Given the description of an element on the screen output the (x, y) to click on. 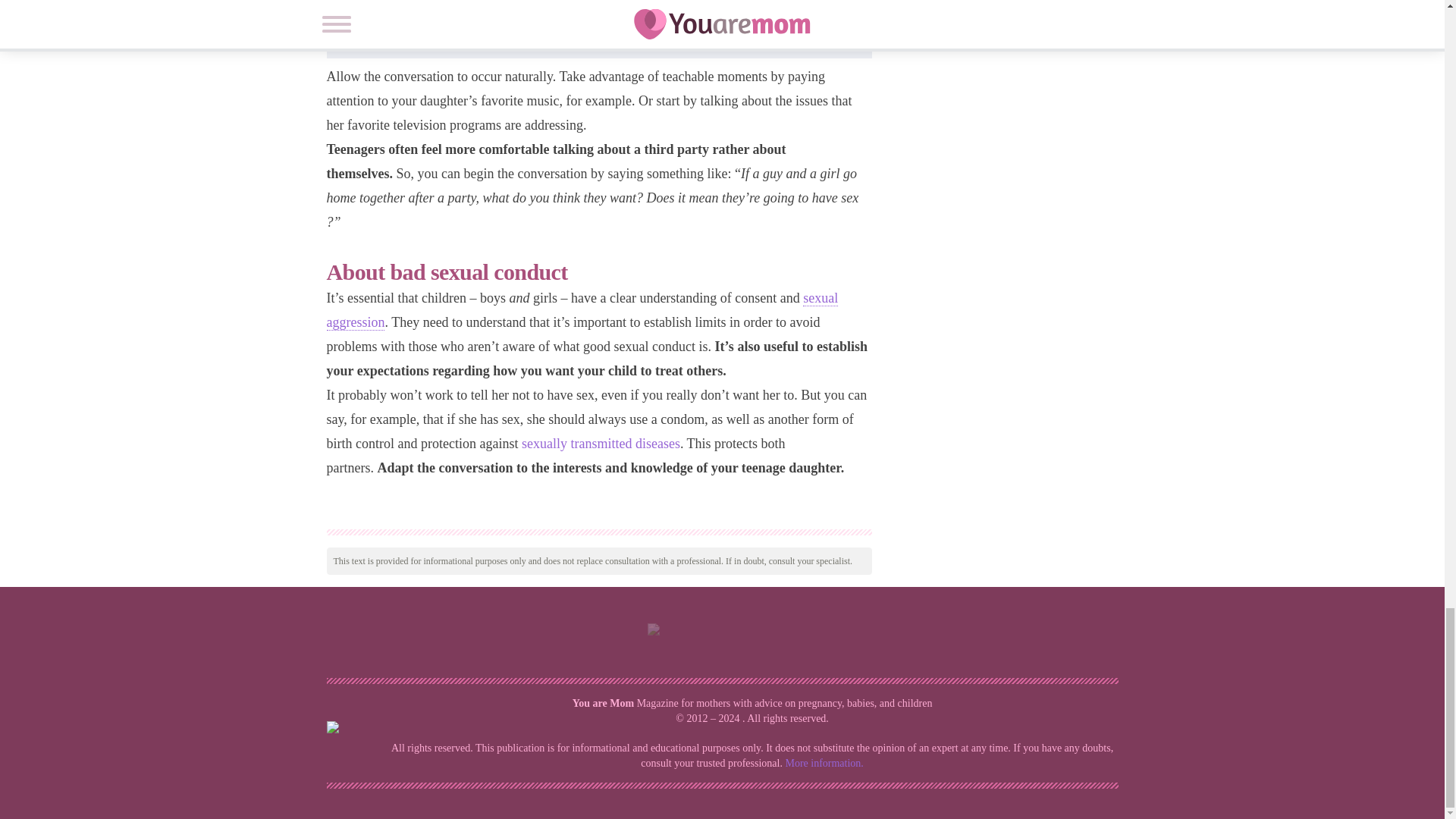
sexually transmitted diseases (600, 443)
sexual aggression (582, 310)
More information. (823, 763)
